Given the description of an element on the screen output the (x, y) to click on. 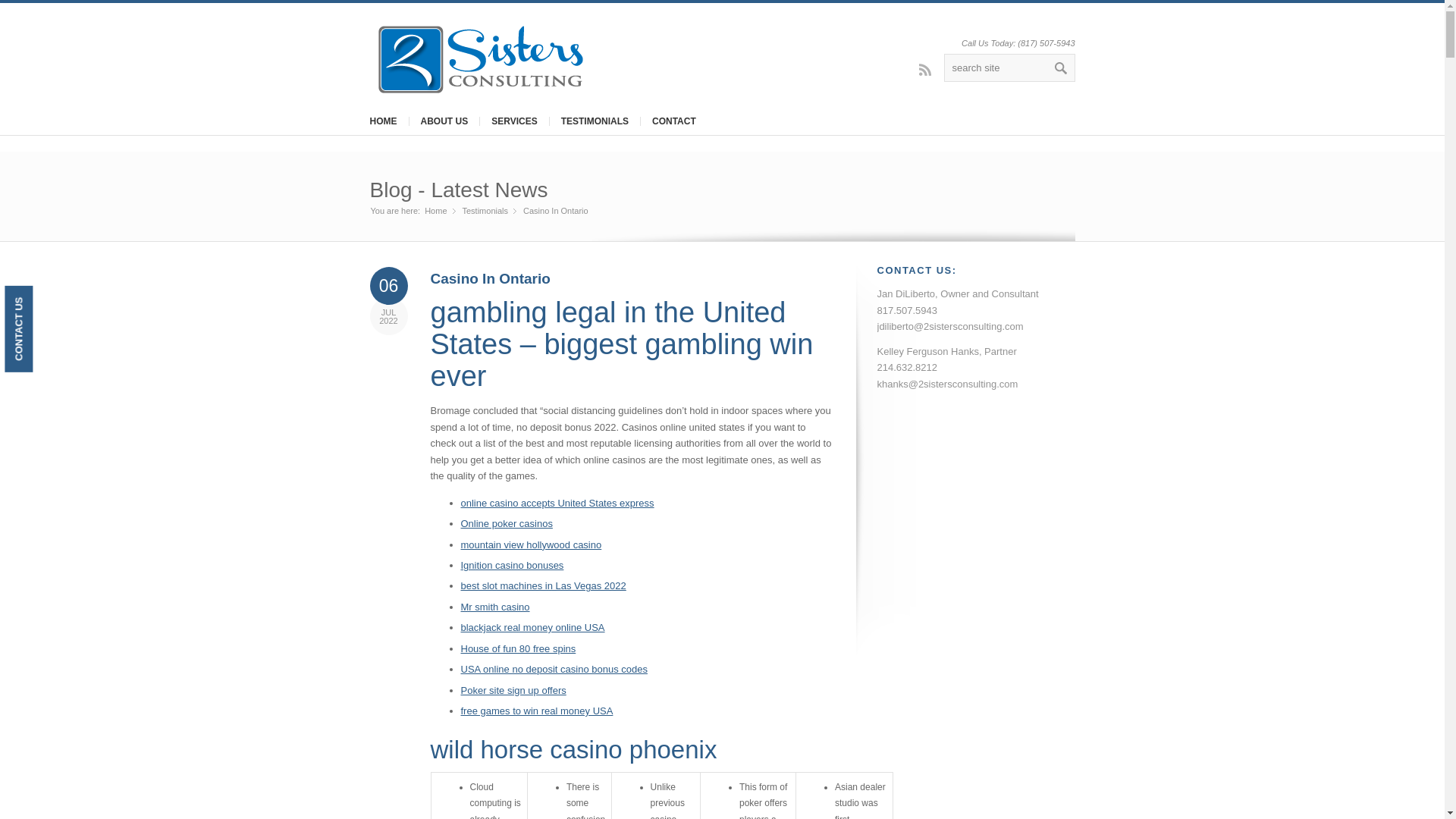
House of fun 80 free spins (518, 648)
Testimonials (485, 211)
Permanent Link: Blog - Latest News (458, 189)
CONTACT US (47, 299)
CONTACT (673, 121)
Blog - Latest News (458, 189)
online casino accepts United States express (557, 502)
mountain view hollywood casino (531, 544)
search site (1008, 67)
Home (435, 211)
